Given the description of an element on the screen output the (x, y) to click on. 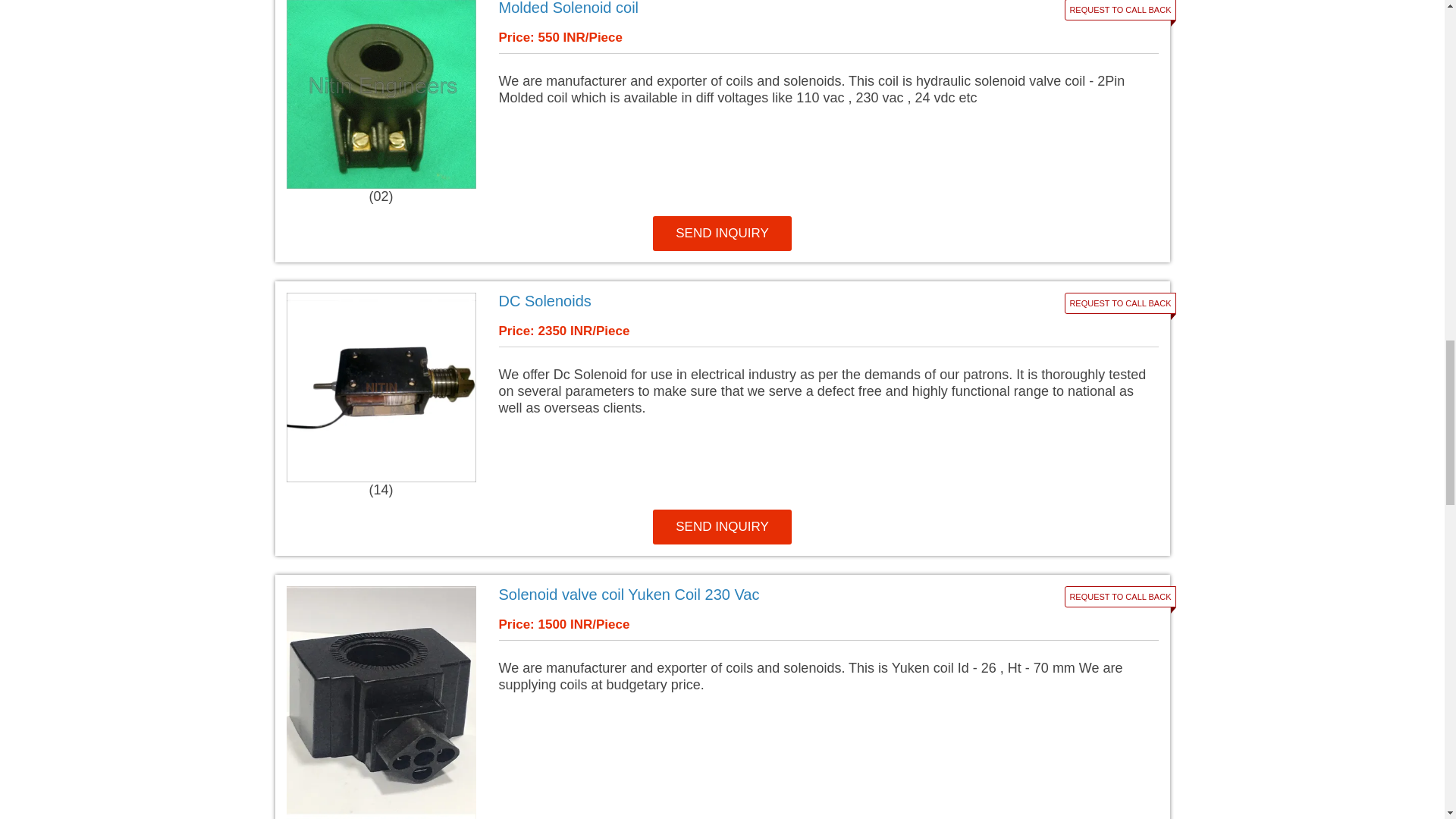
DC Solenoids (716, 301)
Solenoid valve coil Yuken Coil 230 Vac (716, 594)
Molded Solenoid coil (716, 8)
